Given the description of an element on the screen output the (x, y) to click on. 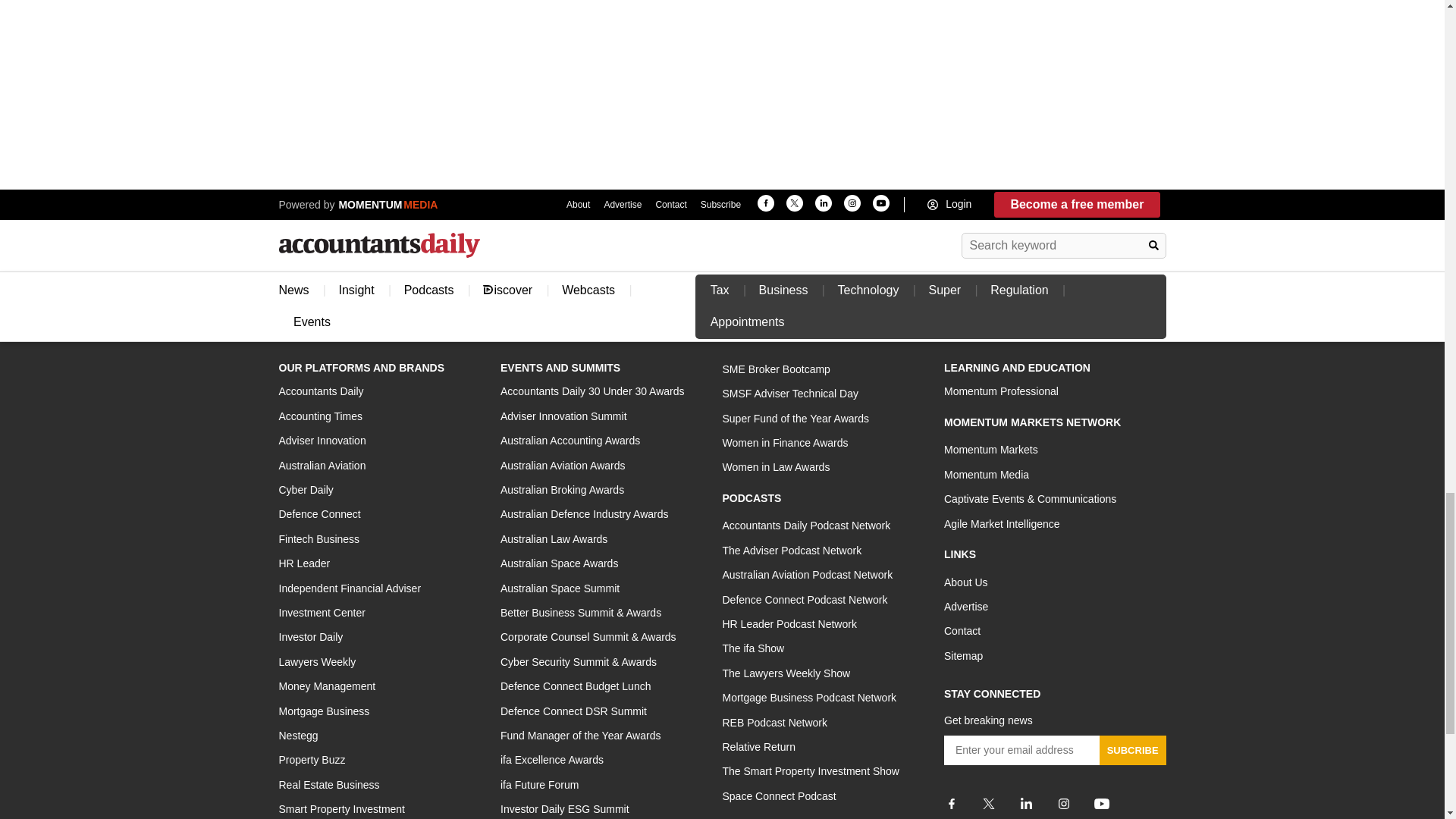
SUBCRIBE (1132, 749)
